Given the description of an element on the screen output the (x, y) to click on. 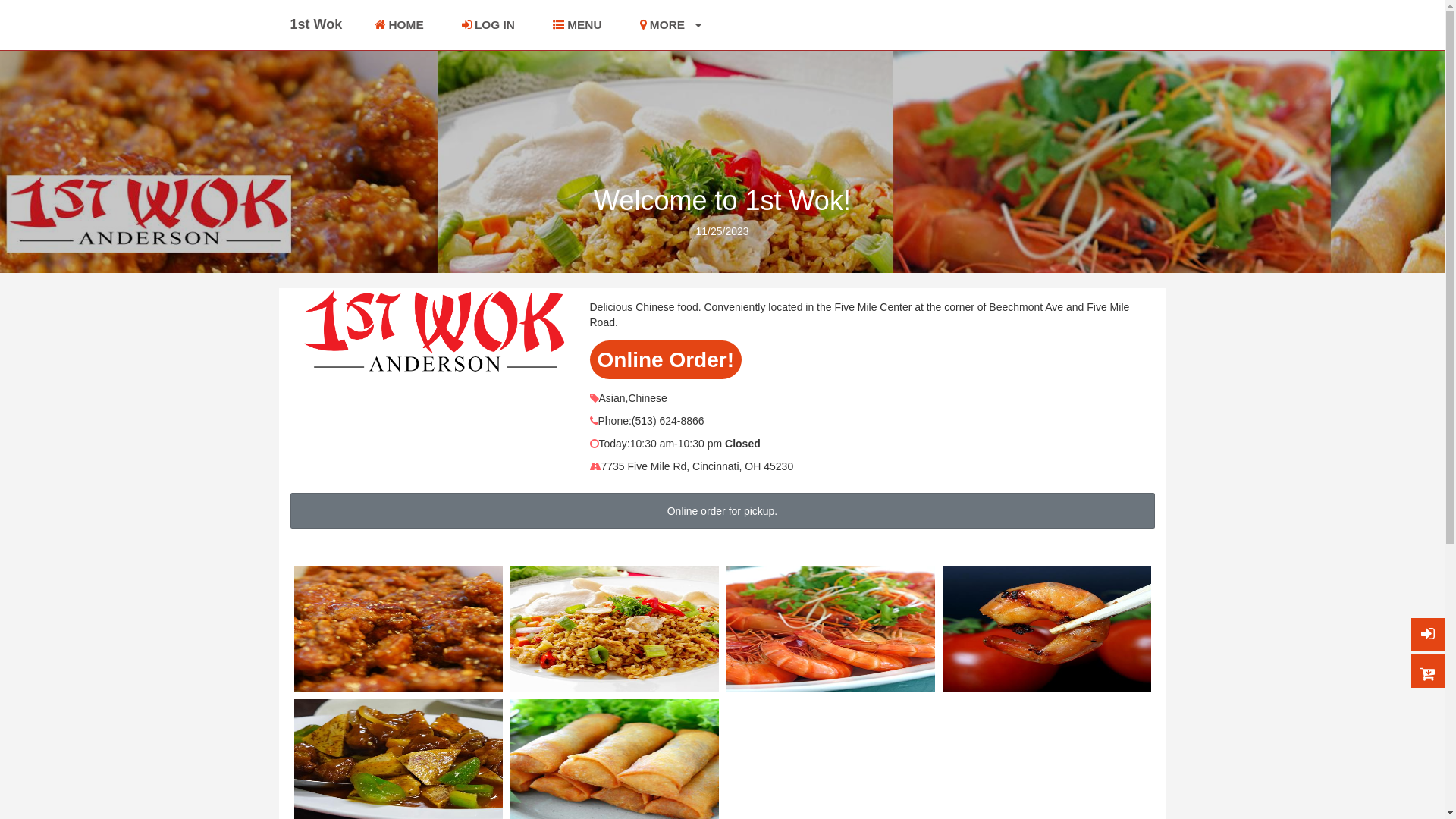
Online Order! Element type: text (665, 359)
1st Wok Element type: text (315, 23)
LOG IN Element type: text (487, 25)
MENU Element type: text (577, 25)
HOME Element type: text (398, 25)
MORE Element type: text (671, 25)
